Given the description of an element on the screen output the (x, y) to click on. 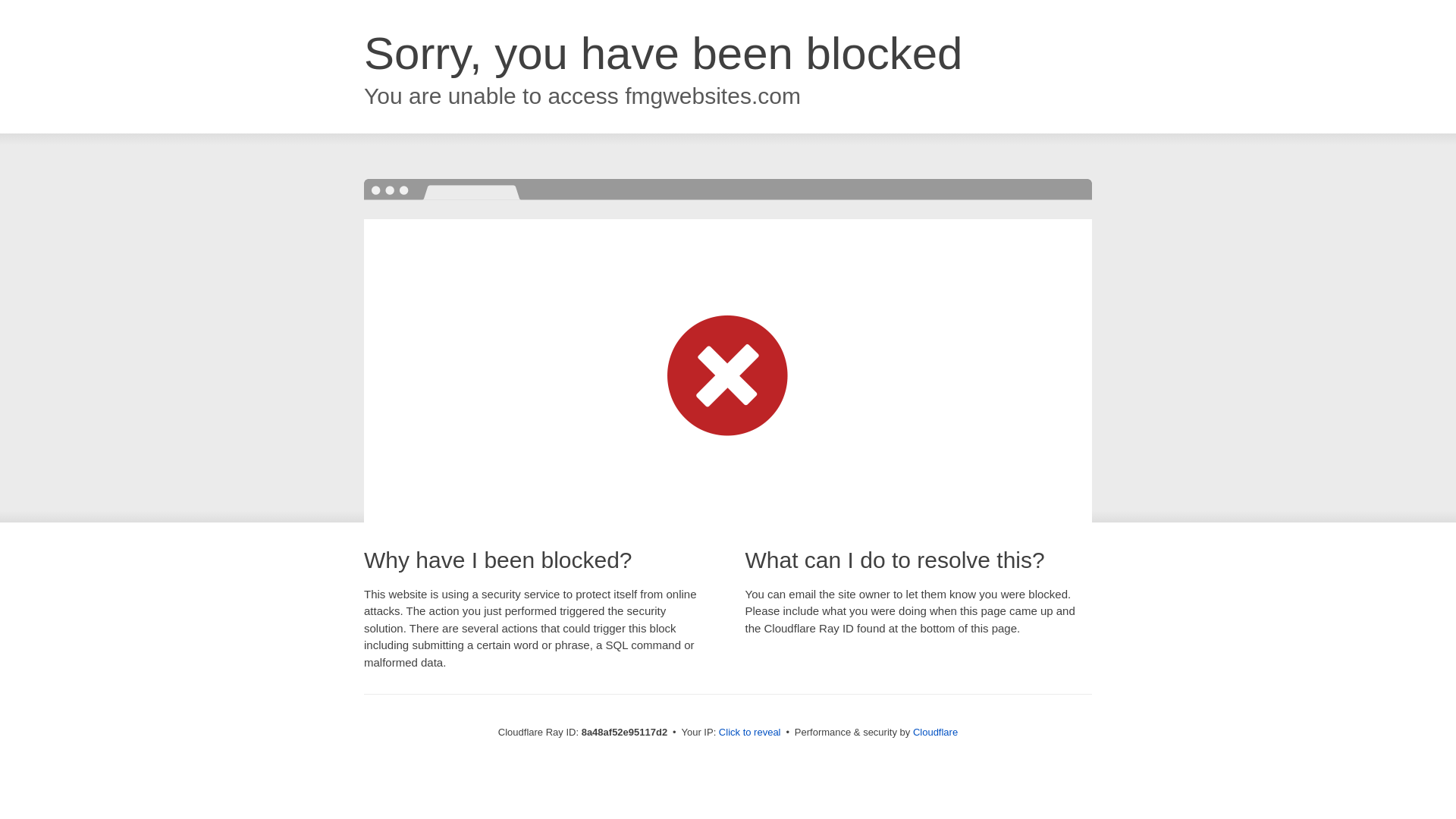
Cloudflare (935, 731)
Click to reveal (749, 732)
